Given the description of an element on the screen output the (x, y) to click on. 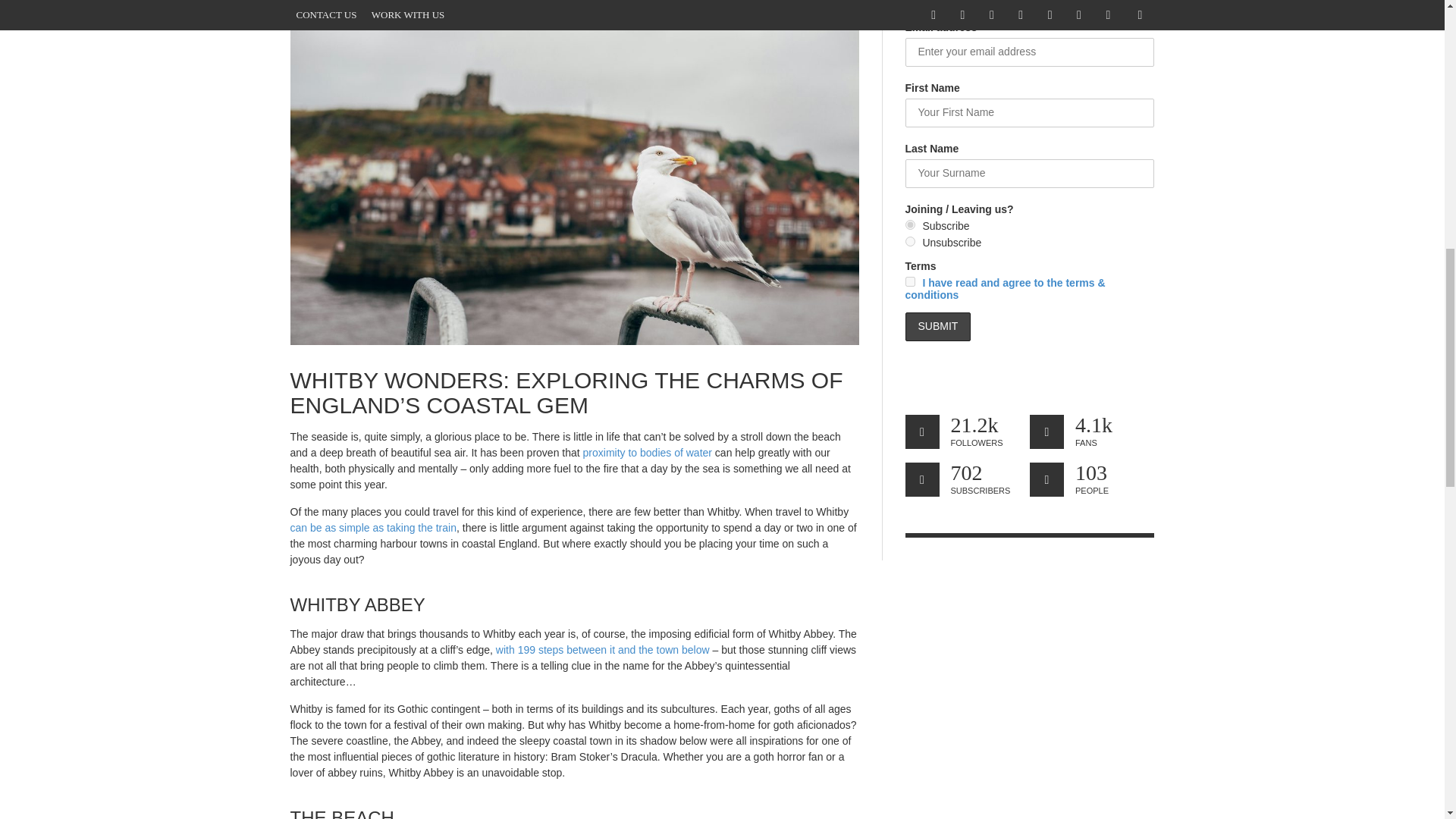
subscribe (910, 225)
unsubscribe (910, 241)
1 (910, 281)
Submit (938, 326)
